Given the description of an element on the screen output the (x, y) to click on. 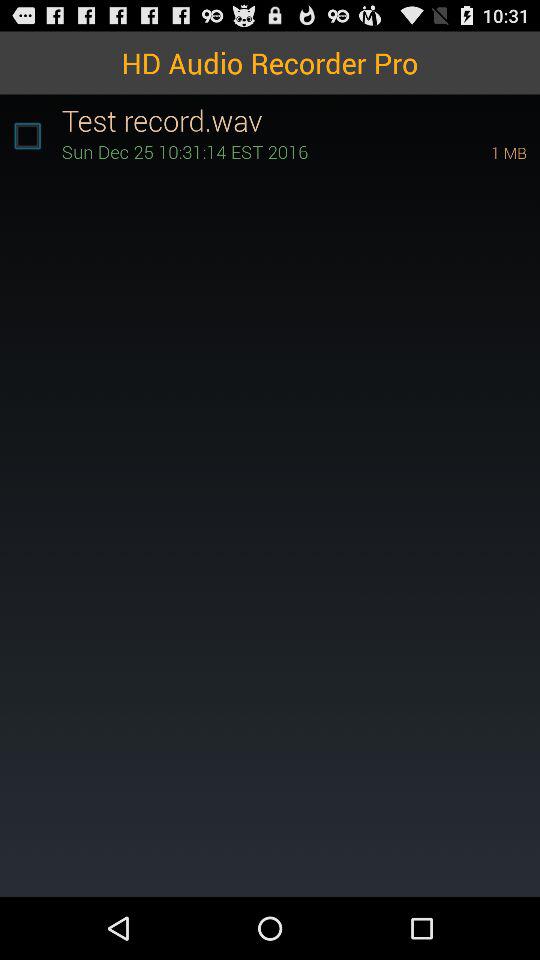
select icon to the right of sun dec 25 app (481, 152)
